Given the description of an element on the screen output the (x, y) to click on. 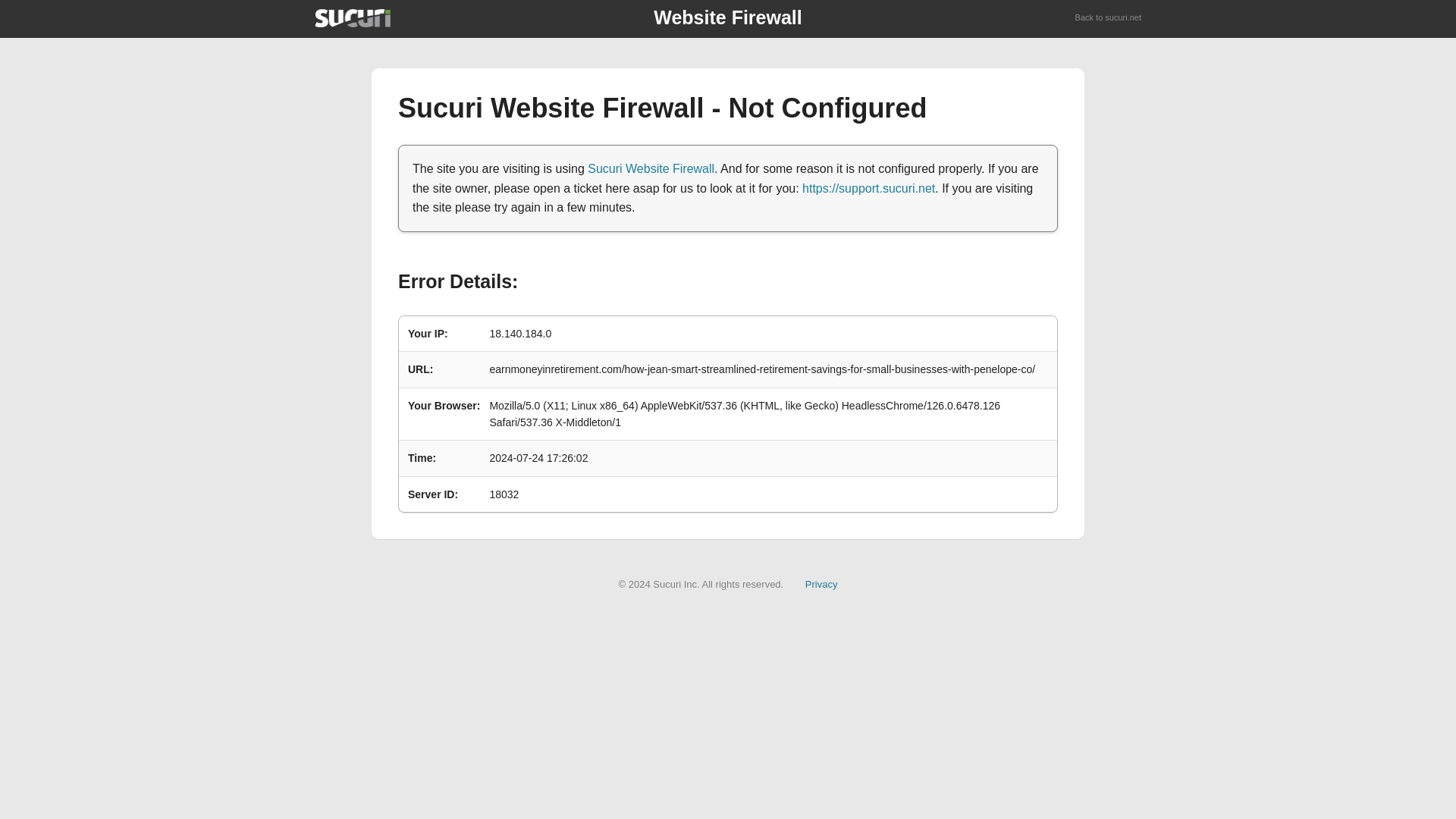
Sucuri Website Firewall (651, 168)
Privacy (821, 583)
Back to sucuri.net (1108, 18)
